Given the description of an element on the screen output the (x, y) to click on. 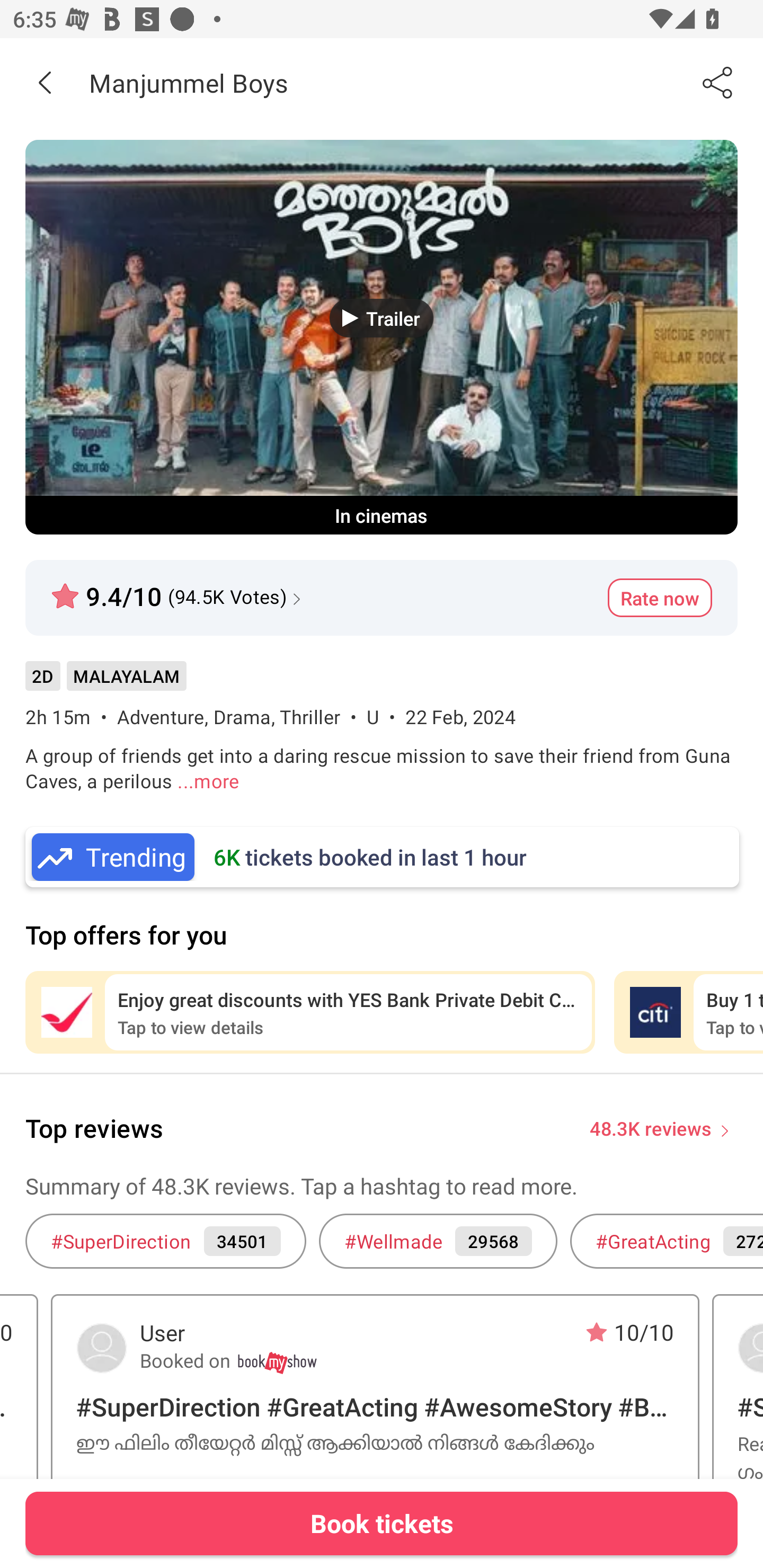
Back (44, 82)
Share (718, 82)
Movie Banner Trailer In cinemas (381, 336)
Trailer (381, 318)
9.4/10 (94.5K Votes) (178, 589)
Rate now (659, 597)
2D MALAYALAM (105, 682)
48.3K reviews (650, 1127)
#SuperDirection 34501 (165, 1240)
#Wellmade 29568 (437, 1240)
#GreatActing 27287 (666, 1240)
Book tickets (381, 1523)
